Given the description of an element on the screen output the (x, y) to click on. 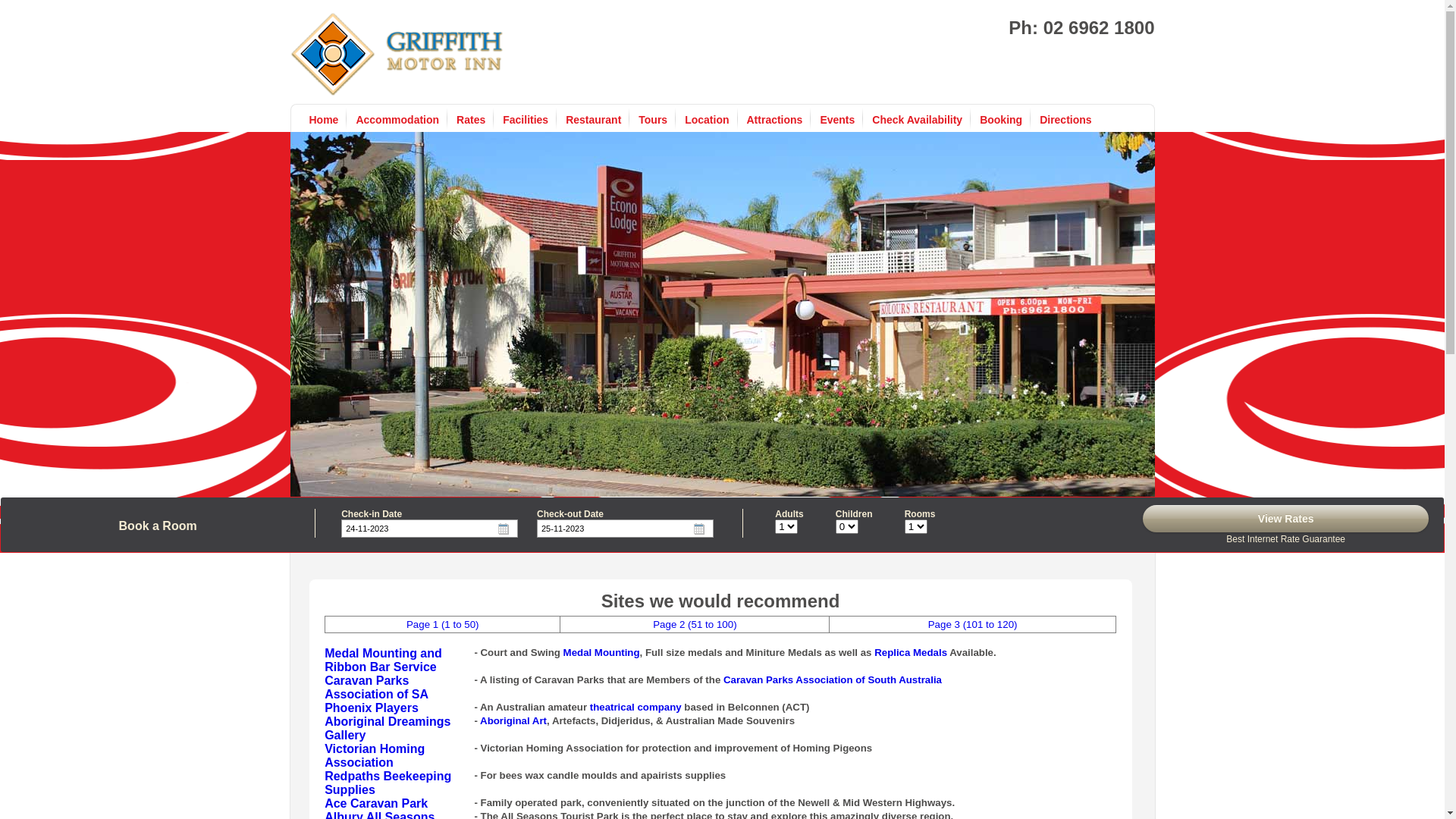
Phoenix Players Element type: text (371, 707)
Aboriginal Dreamings Gallery Element type: text (387, 728)
Page 2 (51 to 100) Element type: text (694, 623)
Rates Element type: text (470, 119)
Page 3 (101 to 120) Element type: text (972, 623)
Restaurant Element type: text (593, 119)
Tours Element type: text (652, 119)
Caravan Parks Association of SA Element type: text (376, 687)
Redpaths Beekeeping Supplies Element type: text (387, 782)
Replica Medals Element type: text (910, 652)
Booking Element type: text (1000, 119)
Events Element type: text (836, 119)
Page 1 (1 to 50) Element type: text (442, 623)
theatrical company Element type: text (635, 706)
Aboriginal Art Element type: text (513, 720)
Accommodation Element type: text (397, 119)
View Rates Element type: text (1285, 518)
Medal Mounting Element type: text (601, 652)
Location Element type: text (706, 119)
Medal Mounting and Ribbon Bar Service Element type: text (383, 659)
Caravan Parks Association of South Australia Element type: text (832, 679)
Check Availability Element type: text (917, 119)
Directions Element type: text (1065, 119)
Victorian Homing Association Element type: text (374, 755)
Home Element type: text (323, 119)
Attractions Element type: text (774, 119)
Ace Caravan Park Element type: text (375, 803)
Facilities Element type: text (525, 119)
